Given the description of an element on the screen output the (x, y) to click on. 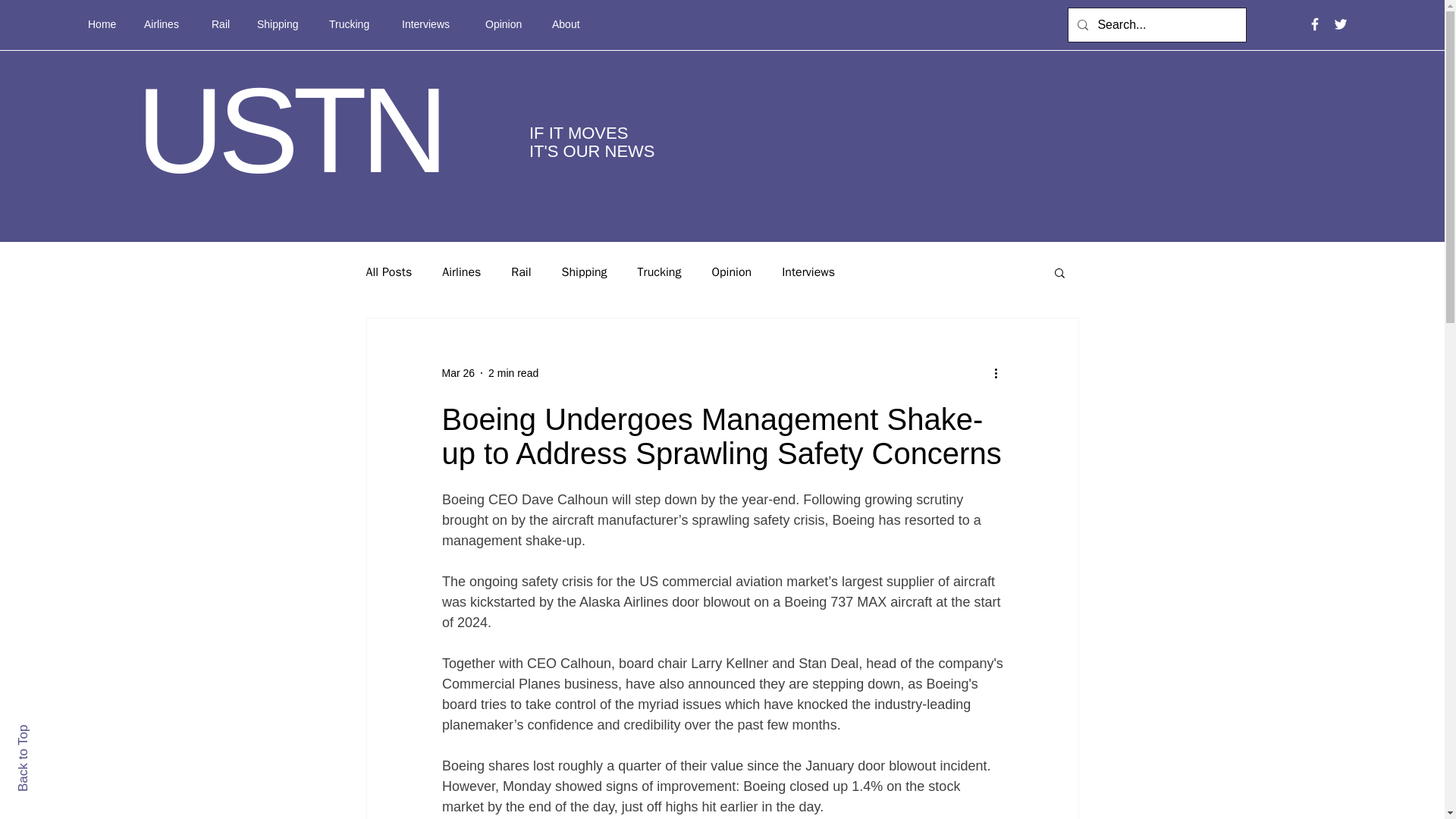
Rail (521, 271)
Trucking (353, 24)
Alaska Airlines door blowout (664, 601)
USTN (289, 130)
Opinion (731, 271)
Opinion (507, 24)
over the past few months (759, 724)
Airlines (461, 271)
2 min read (512, 372)
Rail (223, 24)
